Given the description of an element on the screen output the (x, y) to click on. 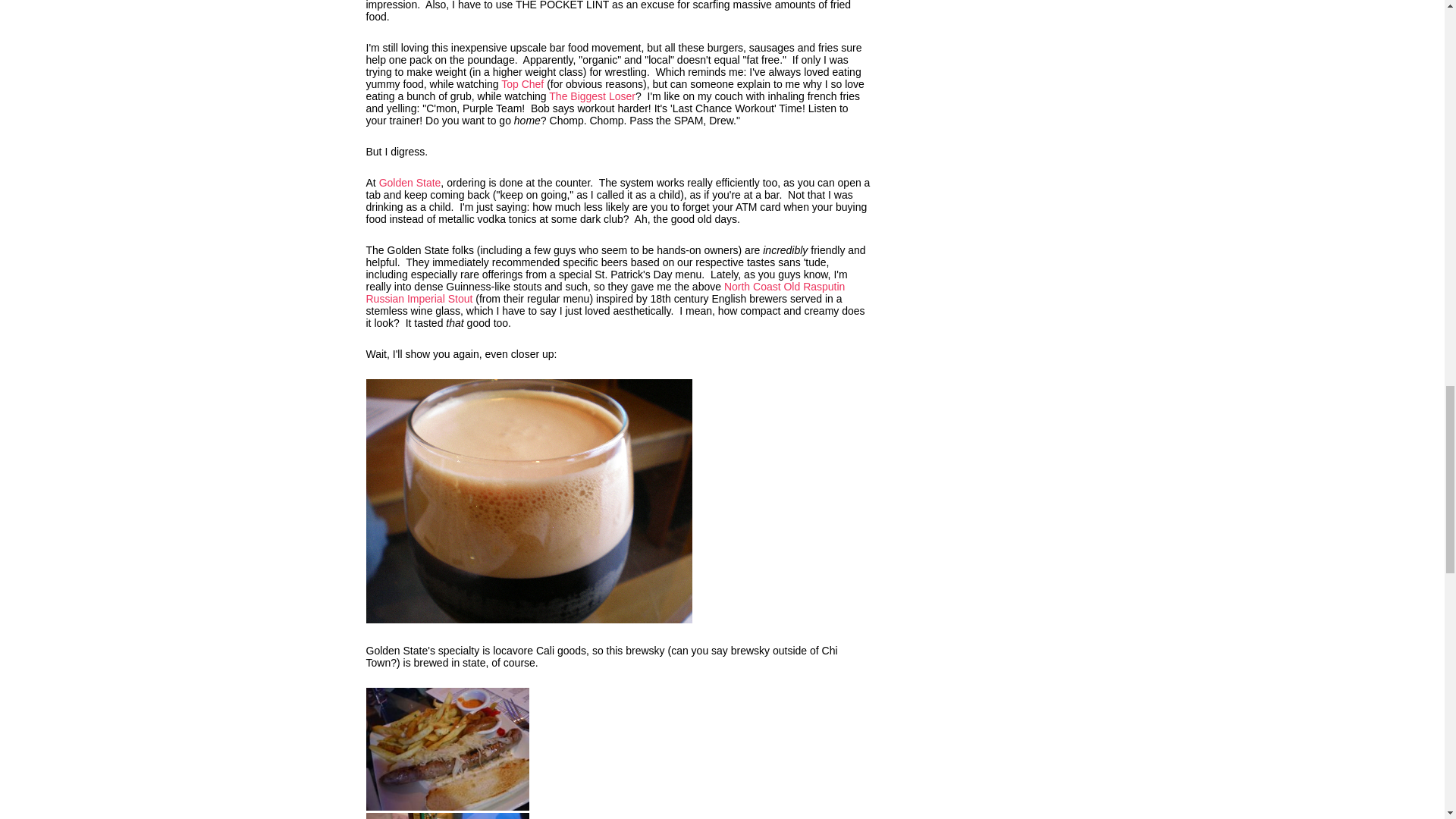
The Biggest Loser (591, 96)
North Coast Old Rasputin Russian Imperial Stout (604, 292)
Golden State (409, 182)
Top Chef (521, 83)
